Given the description of an element on the screen output the (x, y) to click on. 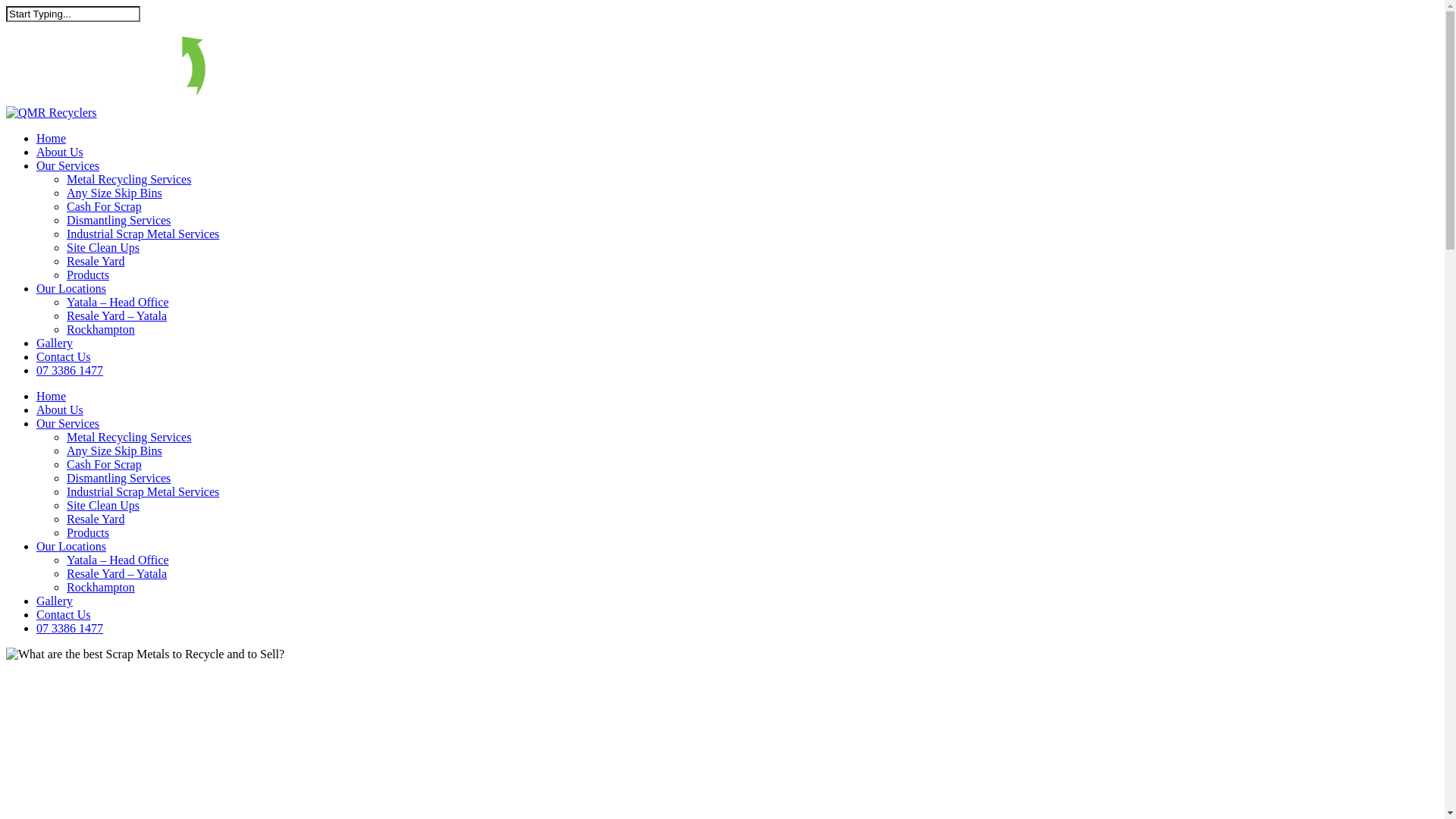
Contact Us Element type: text (63, 614)
Resale Yard Element type: text (95, 260)
Home Element type: text (50, 137)
Metal Recycling Services Element type: text (128, 436)
Gallery Element type: text (54, 600)
07 3386 1477 Element type: text (69, 370)
Resale Yard Element type: text (95, 518)
Rockhampton Element type: text (100, 329)
Site Clean Ups Element type: text (102, 247)
Our Services Element type: text (67, 423)
Industrial Scrap Metal Services Element type: text (142, 491)
Metal Recycling Services Element type: text (128, 178)
Tips & Advice Element type: text (41, 749)
Dismantling Services Element type: text (118, 477)
Rockhampton Element type: text (100, 586)
Cash For Scrap Element type: text (103, 206)
Any Size Skip Bins Element type: text (114, 192)
Any Size Skip Bins Element type: text (114, 450)
Our Locations Element type: text (71, 545)
About Us Element type: text (59, 151)
Gallery Element type: text (54, 342)
Home Element type: text (50, 395)
About Us Element type: text (59, 409)
Products Element type: text (87, 532)
Products Element type: text (87, 274)
Dismantling Services Element type: text (118, 219)
Site Clean Ups Element type: text (102, 504)
Our Services Element type: text (67, 165)
07 3386 1477 Element type: text (69, 627)
Contact Us Element type: text (63, 356)
Industrial Scrap Metal Services Element type: text (142, 233)
Our Locations Element type: text (71, 288)
Cash For Scrap Element type: text (103, 464)
